Given the description of an element on the screen output the (x, y) to click on. 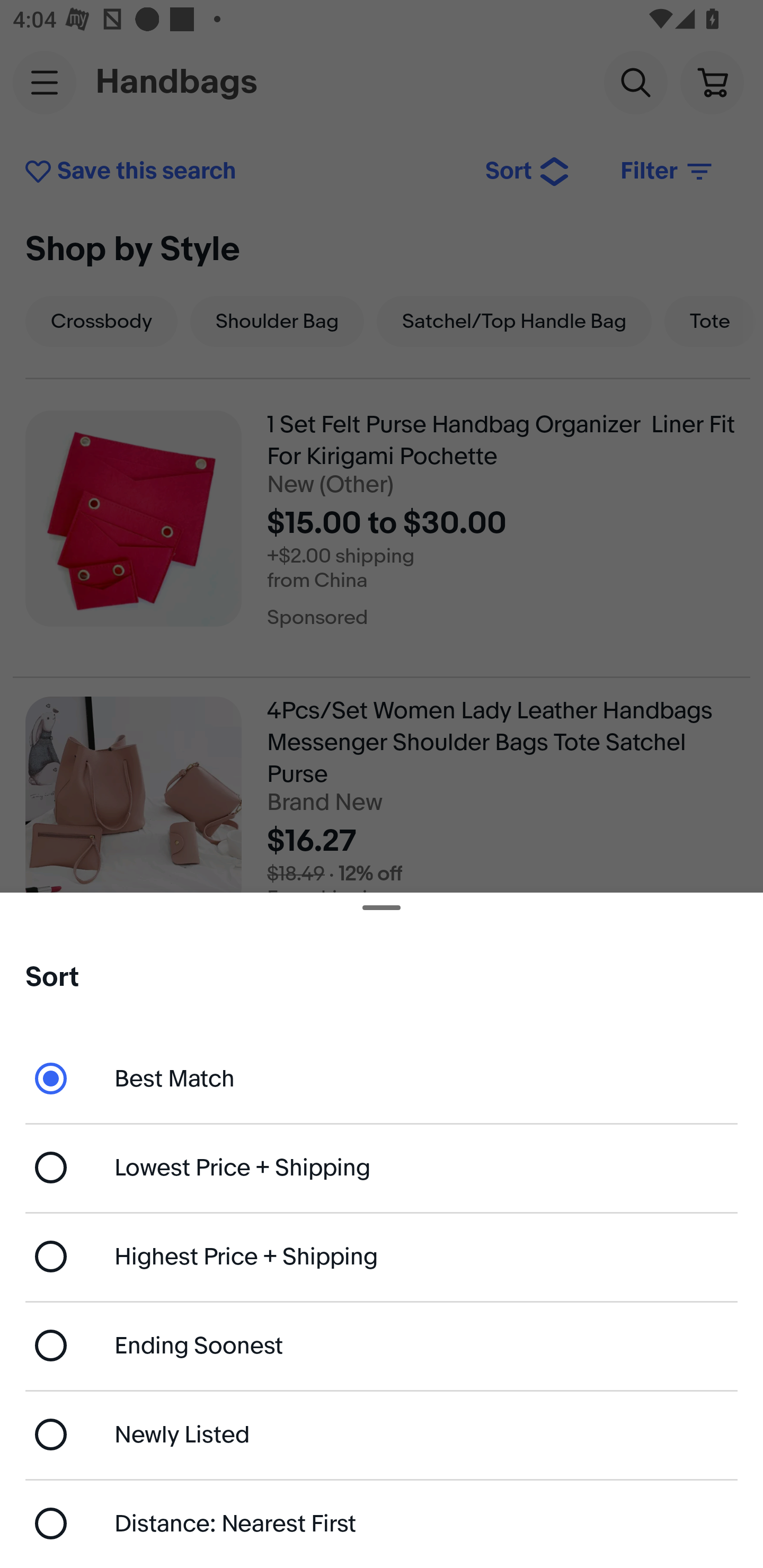
Best Match - currently selected Best Match (381, 1077)
Lowest Price + Shipping (381, 1167)
Highest Price + Shipping (381, 1256)
Ending Soonest (381, 1345)
Newly Listed (381, 1433)
Distance: Nearest First (381, 1523)
